Given the description of an element on the screen output the (x, y) to click on. 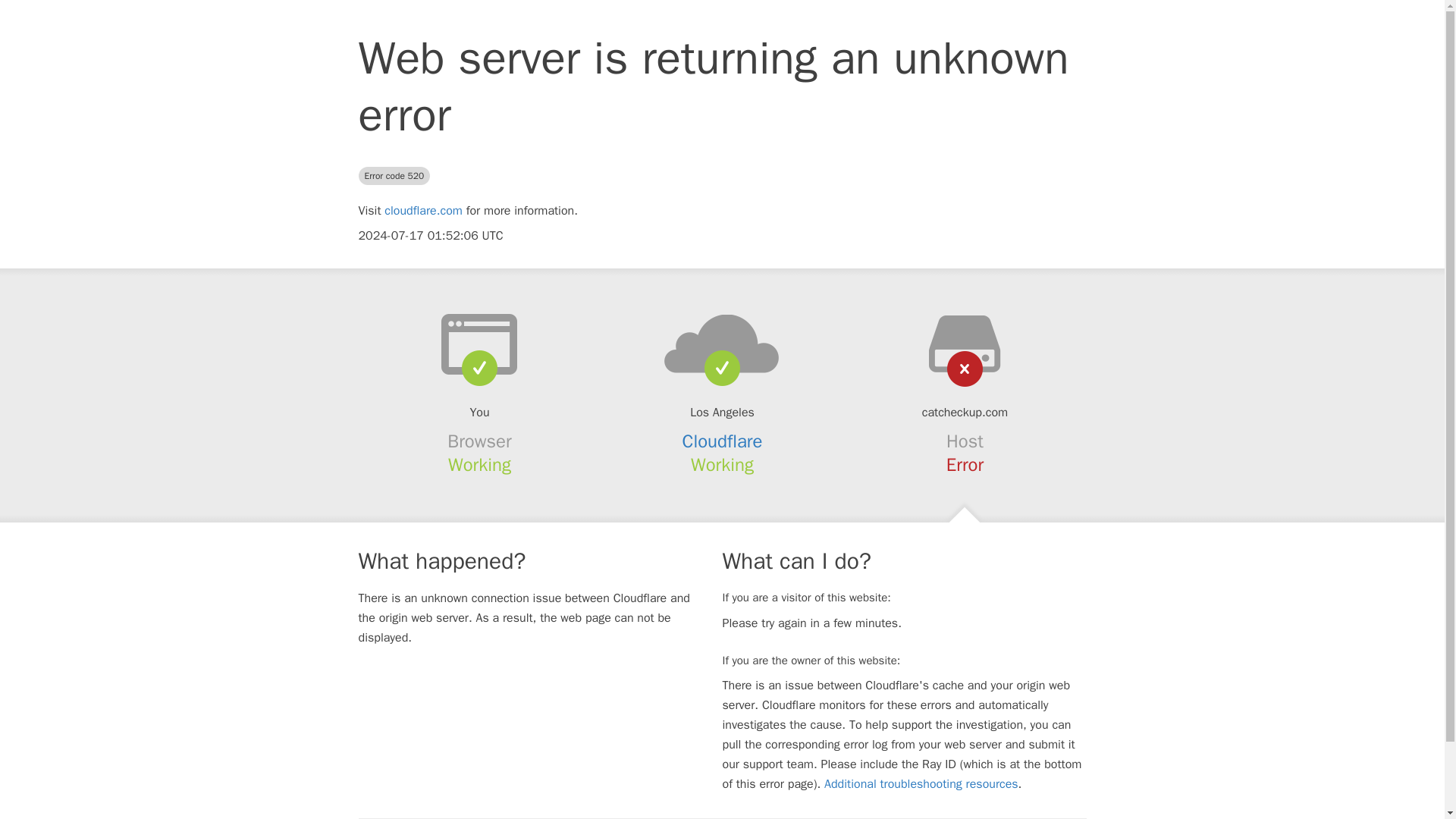
Additional troubleshooting resources (920, 783)
cloudflare.com (423, 210)
Cloudflare (722, 440)
